Given the description of an element on the screen output the (x, y) to click on. 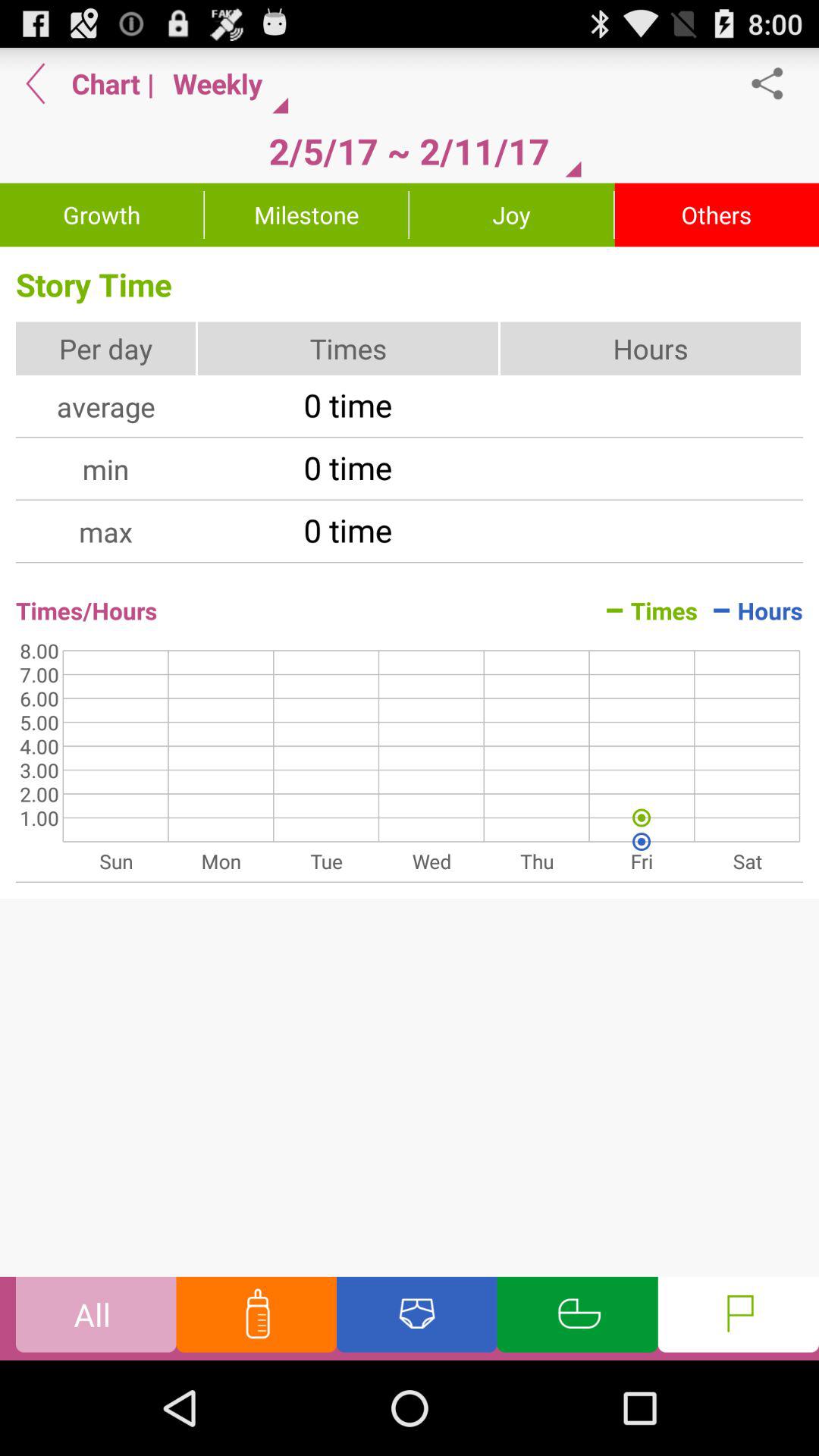
launch the item next to the  |  app (224, 83)
